Given the description of an element on the screen output the (x, y) to click on. 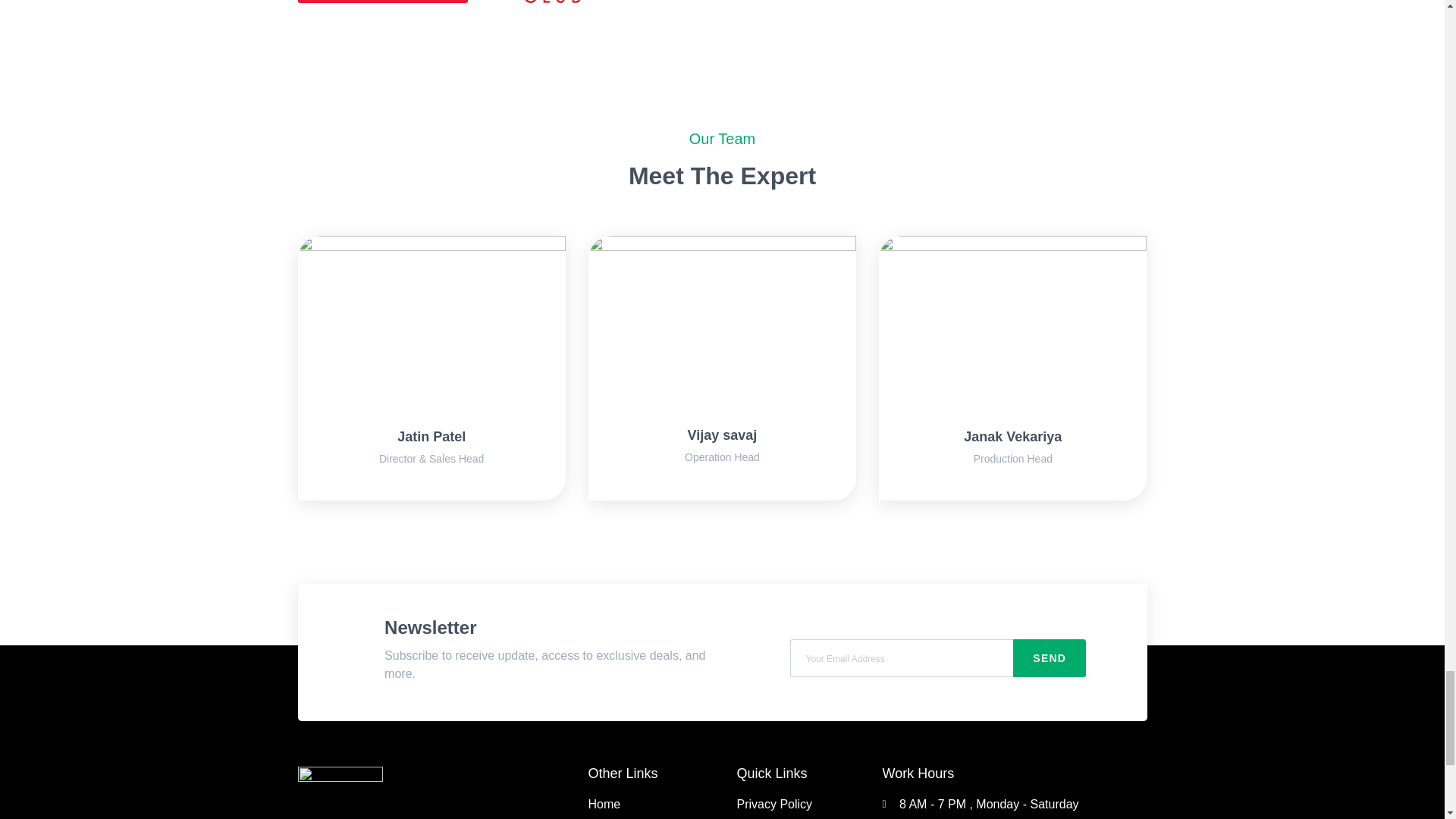
Home (654, 804)
SEND (1049, 658)
Privacy Policy (790, 804)
